Given the description of an element on the screen output the (x, y) to click on. 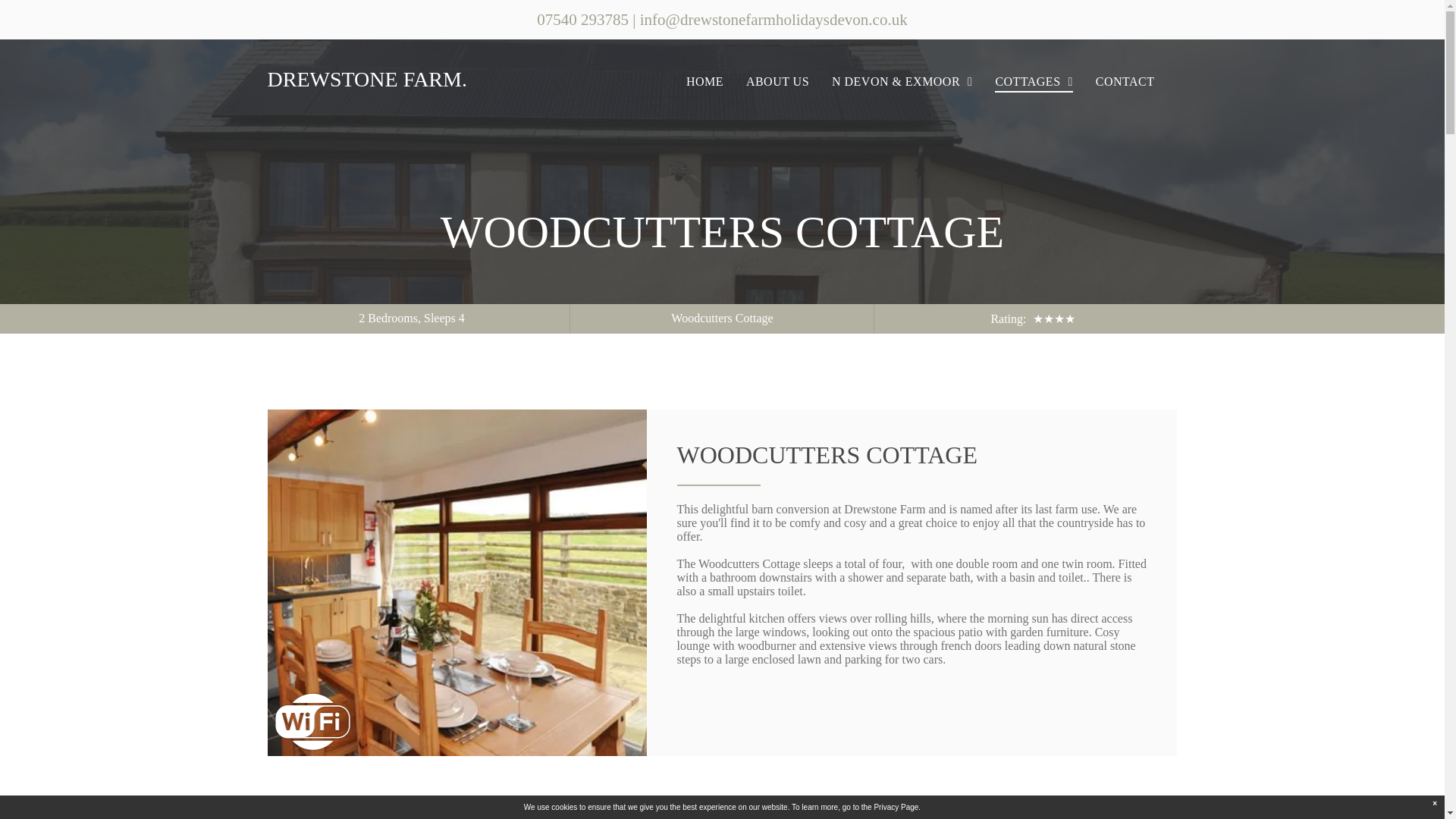
CONTACT (1125, 81)
ABOUT US (778, 81)
HOME (705, 81)
COTTAGES (1033, 81)
